Given the description of an element on the screen output the (x, y) to click on. 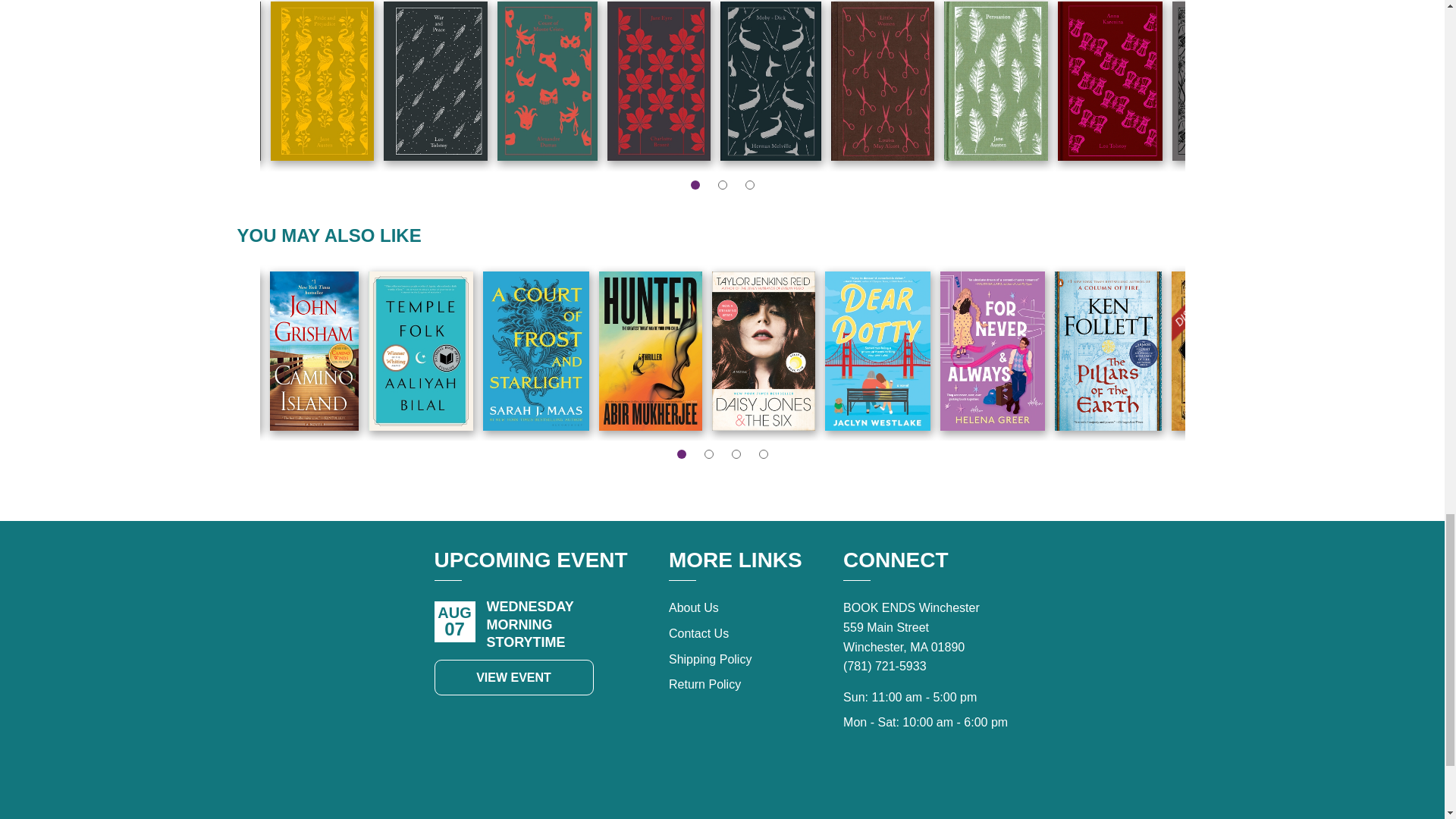
Connect with Instagram (959, 786)
Connect with Tik Tok (892, 786)
Connect with Facebook (926, 786)
